Given the description of an element on the screen output the (x, y) to click on. 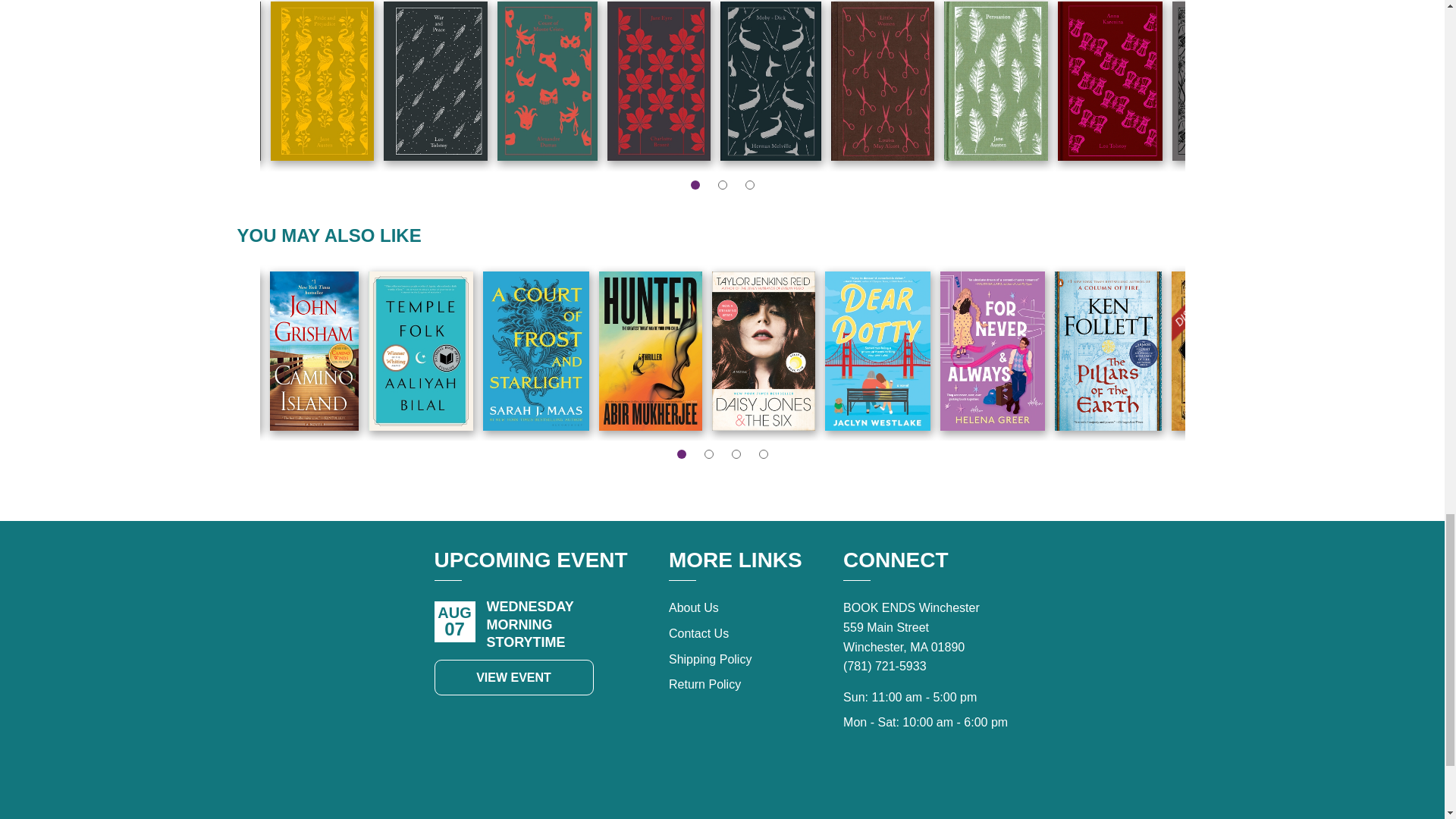
Connect with Instagram (959, 786)
Connect with Tik Tok (892, 786)
Connect with Facebook (926, 786)
